Given the description of an element on the screen output the (x, y) to click on. 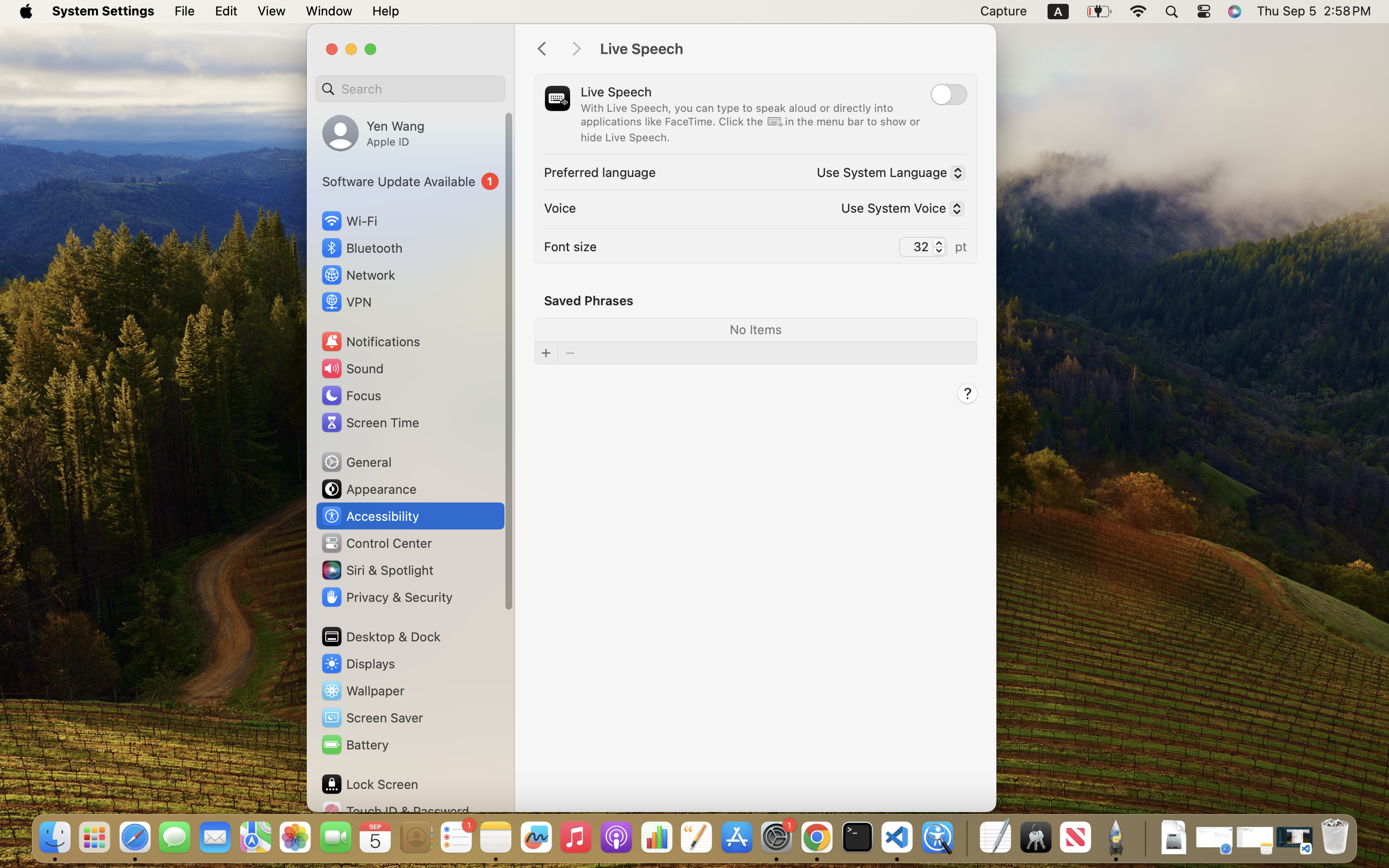
Voice Element type: AXStaticText (559, 207)
Focus Element type: AXStaticText (350, 394)
Lock Screen Element type: AXStaticText (369, 783)
32 Element type: AXTextField (922, 246)
